Given the description of an element on the screen output the (x, y) to click on. 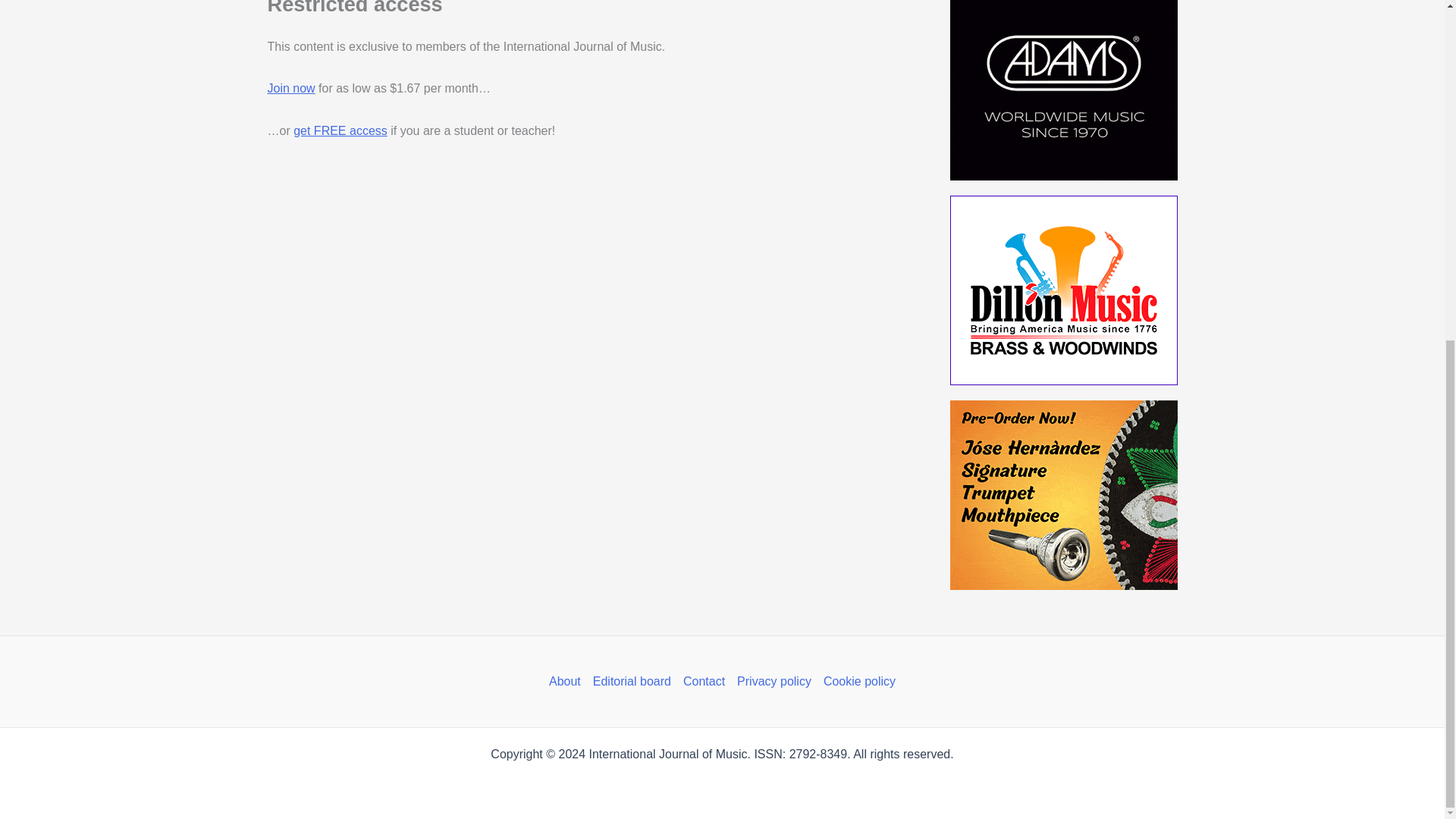
Legends-Brass-Jose-Hernandez (1062, 494)
Adams-Together-in-Music (1062, 90)
Dillon-Music-Trumpet (1062, 289)
